Given the description of an element on the screen output the (x, y) to click on. 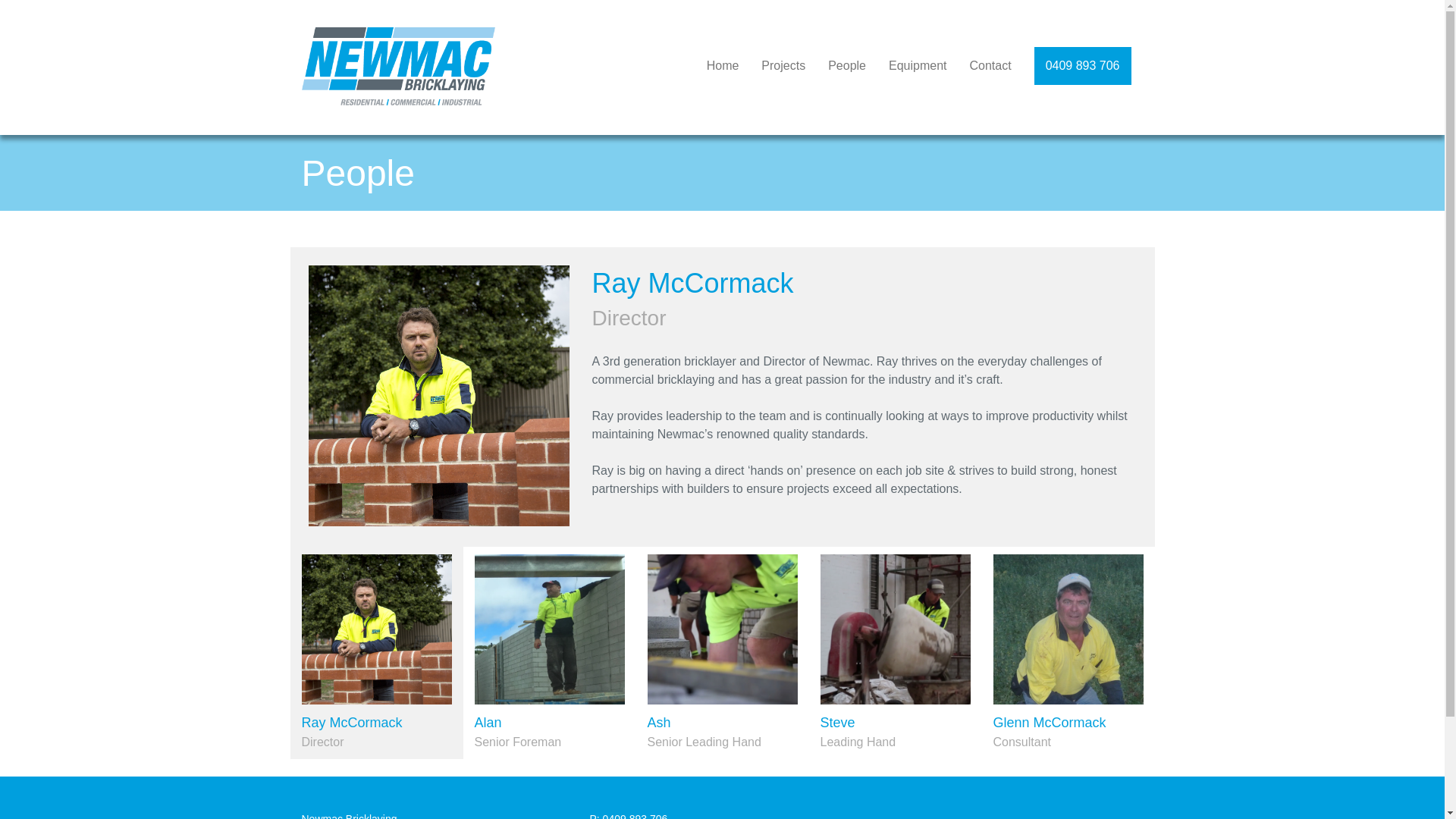
Ash
Senior Leading Hand Element type: text (721, 652)
People Element type: text (846, 65)
Glenn McCormack
Consultant Element type: text (1067, 652)
Steve
Leading Hand Element type: text (894, 652)
Home Element type: text (722, 65)
Projects Element type: text (782, 65)
Equipment Element type: text (917, 65)
Contact Element type: text (989, 65)
Ray McCormack
Director Element type: text (375, 652)
Alan
Senior Foreman Element type: text (548, 652)
0409 893 706 Element type: text (1082, 65)
